Given the description of an element on the screen output the (x, y) to click on. 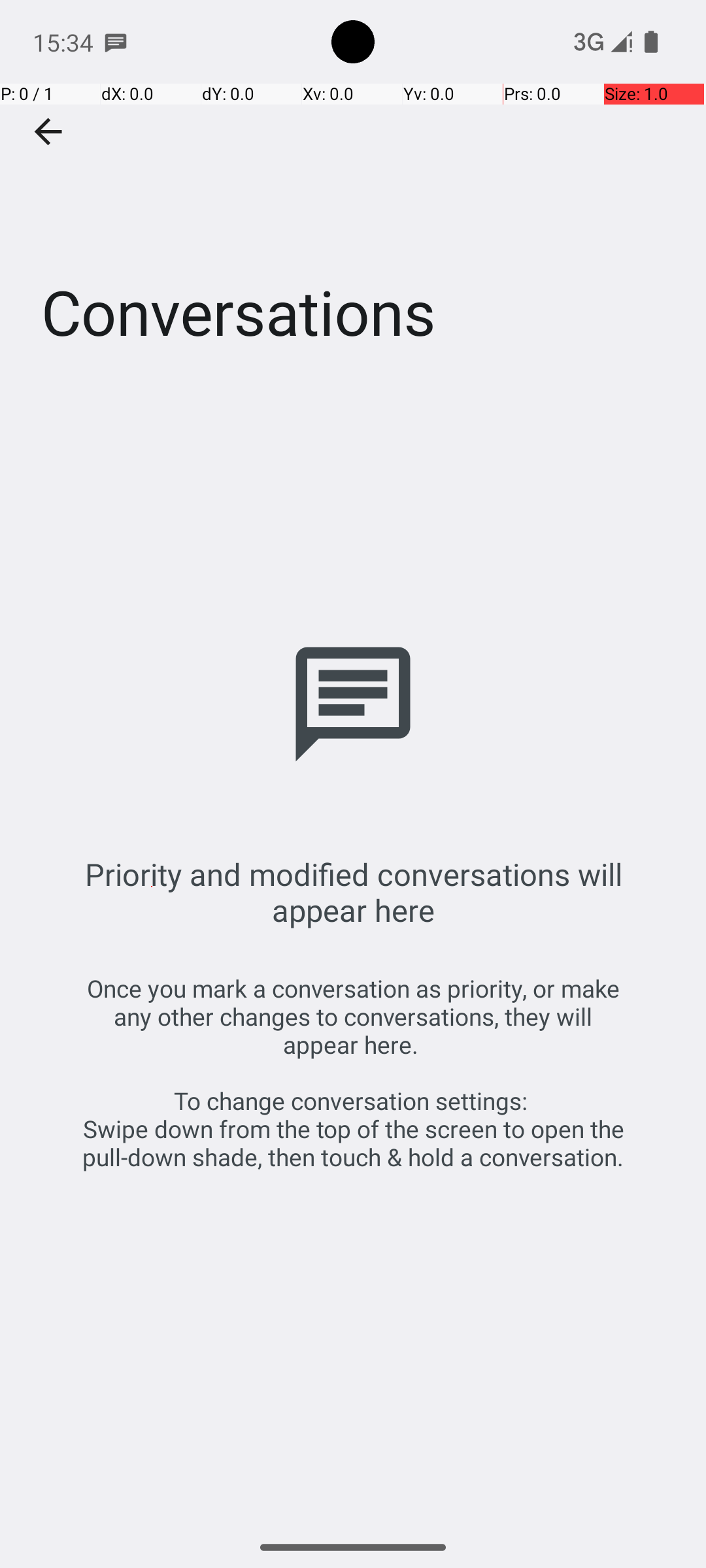
Conversations Element type: android.widget.FrameLayout (353, 195)
Priority and modified conversations will appear here Element type: android.widget.TextView (352, 891)
Once you mark a conversation as priority, or make any other changes to conversations, they will appear here. 

To change conversation settings: 
Swipe down from the top of the screen to open the pull-down shade, then touch & hold a conversation. Element type: android.widget.TextView (352, 1072)
